Given the description of an element on the screen output the (x, y) to click on. 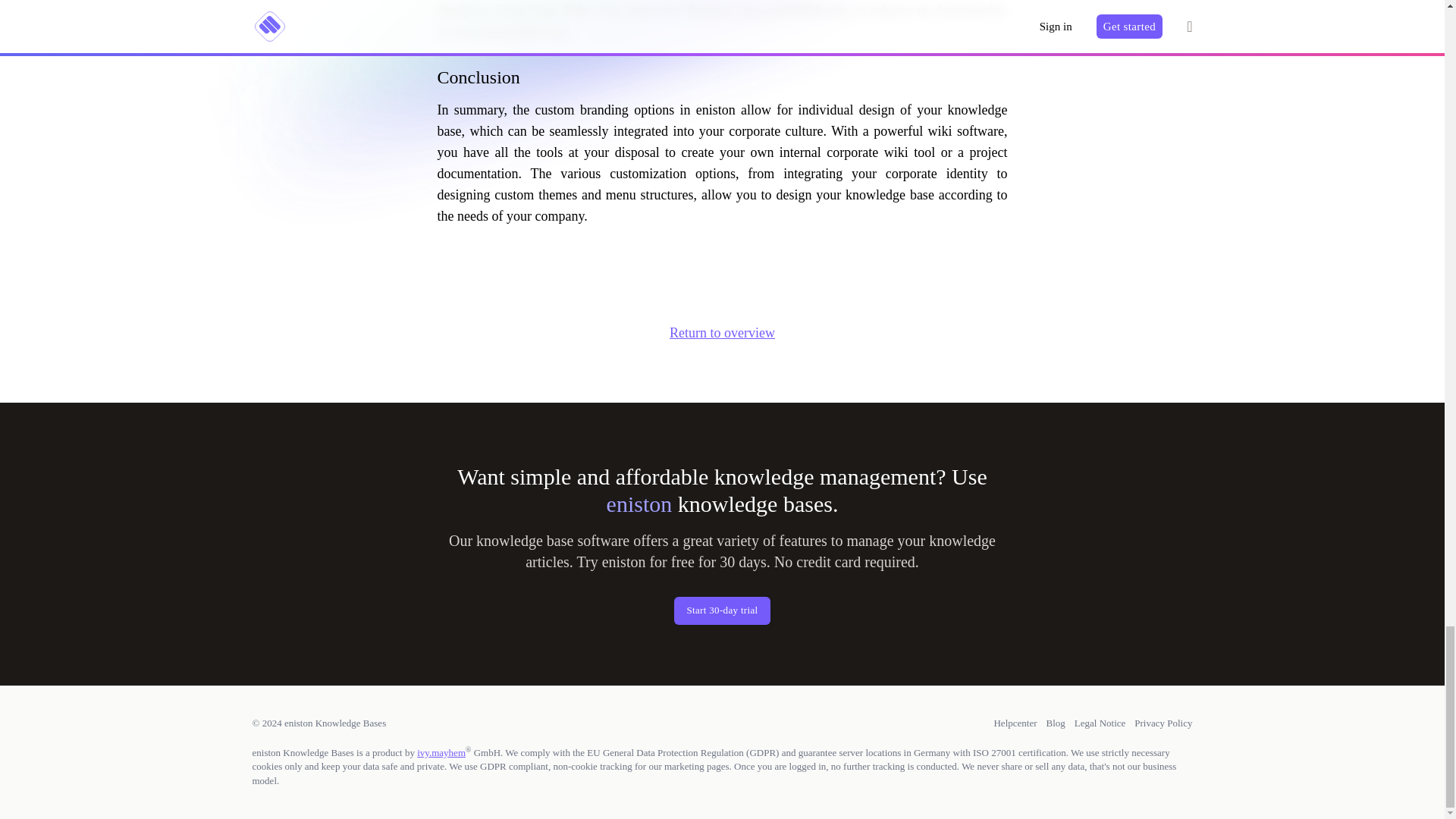
Return to overview (721, 332)
Blog (1055, 722)
Privacy Policy (1163, 722)
Legal Notice (1099, 722)
Start 30-day trial (722, 610)
ivy.mayhem (440, 752)
Helpcenter (1014, 722)
